Given the description of an element on the screen output the (x, y) to click on. 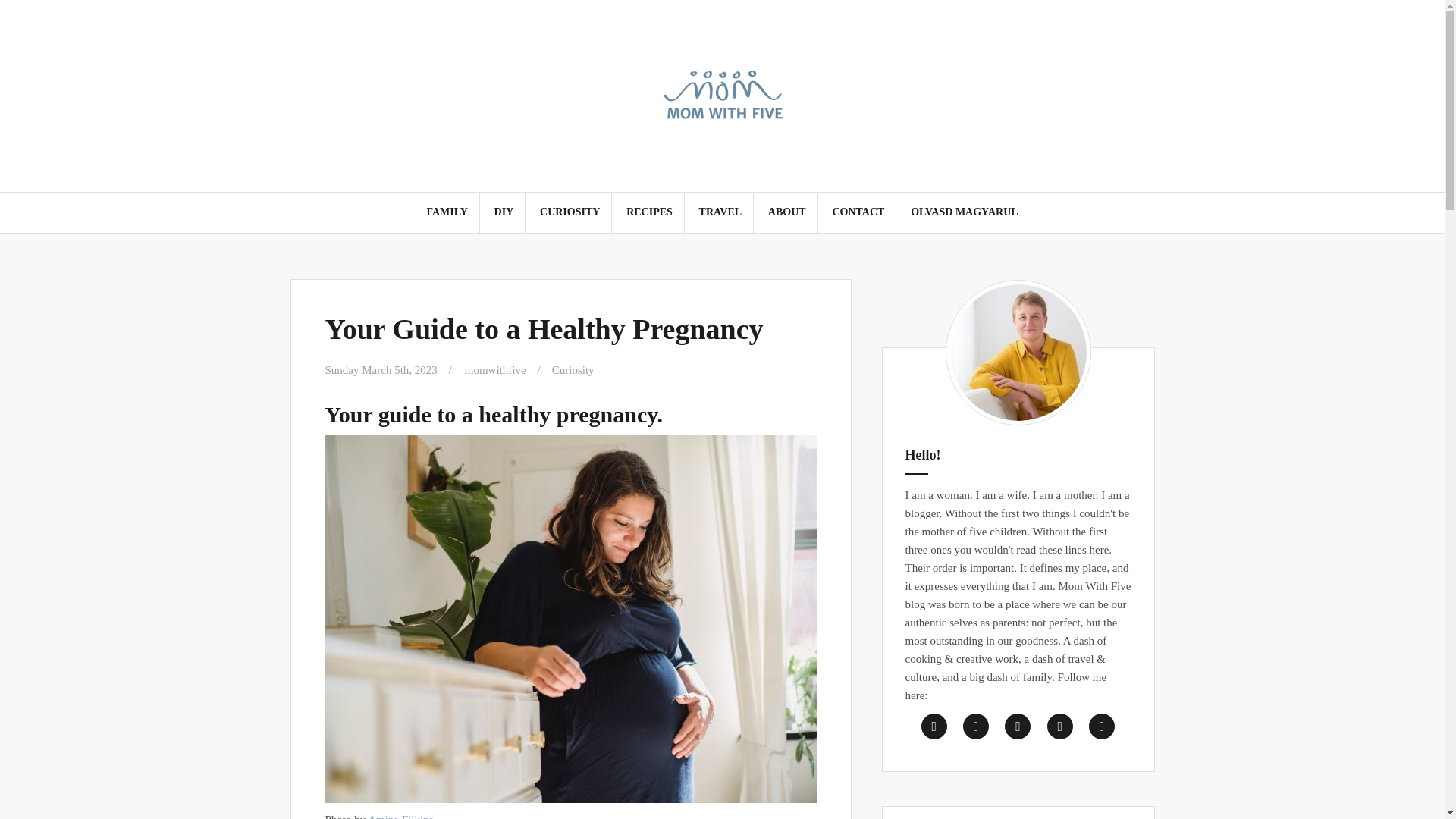
FAMILY (446, 211)
TRAVEL (720, 211)
OLVASD MAGYARUL (964, 211)
momwithfive (494, 369)
CONTACT (857, 211)
Mom With Five (721, 94)
Sunday March 5th, 2023 (380, 369)
Amina Filkins (398, 816)
RECIPES (649, 211)
Curiosity (572, 369)
